Given the description of an element on the screen output the (x, y) to click on. 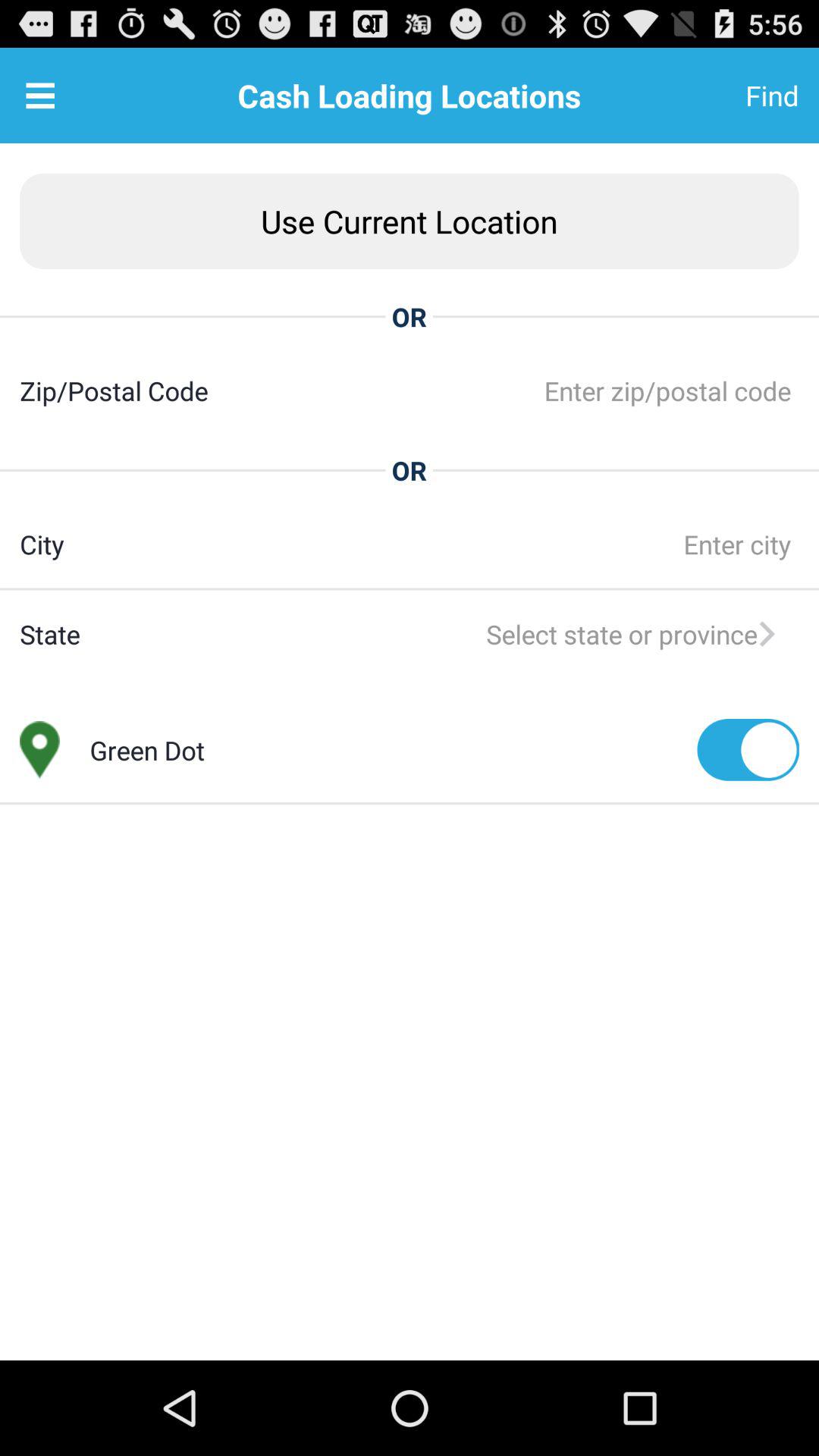
turn on icon above use current location (39, 95)
